Given the description of an element on the screen output the (x, y) to click on. 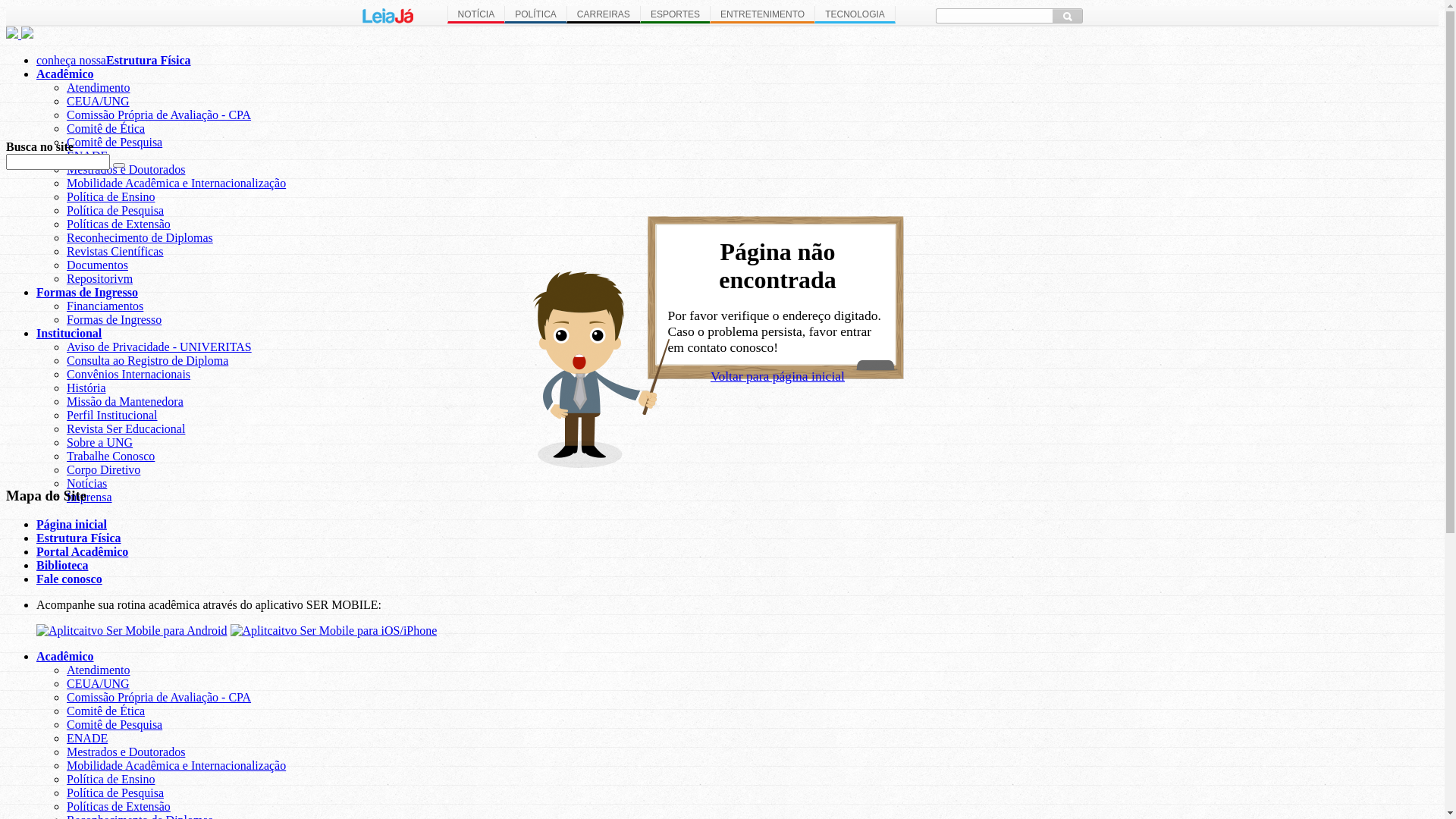
Documentos Element type: text (97, 264)
CARREIRAS Element type: text (603, 14)
Mestrados e Doutorados Element type: text (125, 169)
Atendimento Element type: text (98, 669)
Corpo Diretivo Element type: text (103, 469)
Institucional Element type: text (68, 332)
ENTRETENIMENTO Element type: text (761, 14)
Financiamentos Element type: text (104, 305)
Reconhecimento de Diplomas Element type: text (139, 237)
CEUA/UNG Element type: text (97, 100)
Buscar Element type: text (1067, 15)
Mestrados e Doutorados Element type: text (125, 751)
Perfil Institucional Element type: text (111, 414)
Fale conosco Element type: text (69, 578)
Formas de Ingresso Element type: text (87, 291)
Sobre a UNG Element type: text (99, 442)
CEUA/UNG Element type: text (97, 683)
ENADE Element type: text (86, 155)
ESPORTES Element type: text (674, 14)
ENADE Element type: text (86, 737)
Repositorivm Element type: text (99, 278)
Revista Ser Educacional Element type: text (125, 428)
Aviso de Privacidade - UNIVERITAS Element type: text (158, 346)
Imprensa Element type: text (89, 496)
Biblioteca Element type: text (61, 564)
Consulta ao Registro de Diploma Element type: text (147, 360)
Atendimento Element type: text (98, 87)
TECNOLOGIA Element type: text (854, 14)
Trabalhe Conosco Element type: text (110, 455)
Formas de Ingresso Element type: text (113, 319)
